Given the description of an element on the screen output the (x, y) to click on. 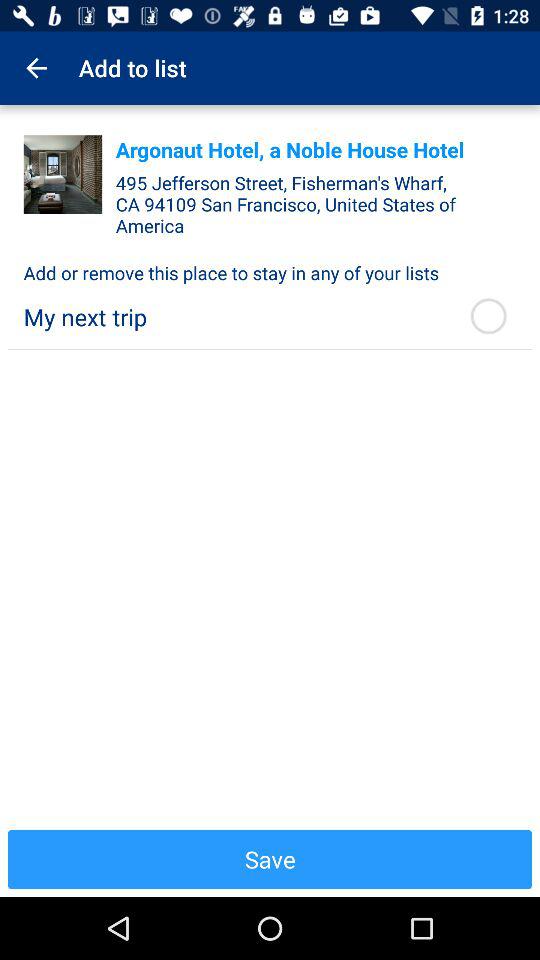
select item to the right of the my next trip (488, 316)
